Given the description of an element on the screen output the (x, y) to click on. 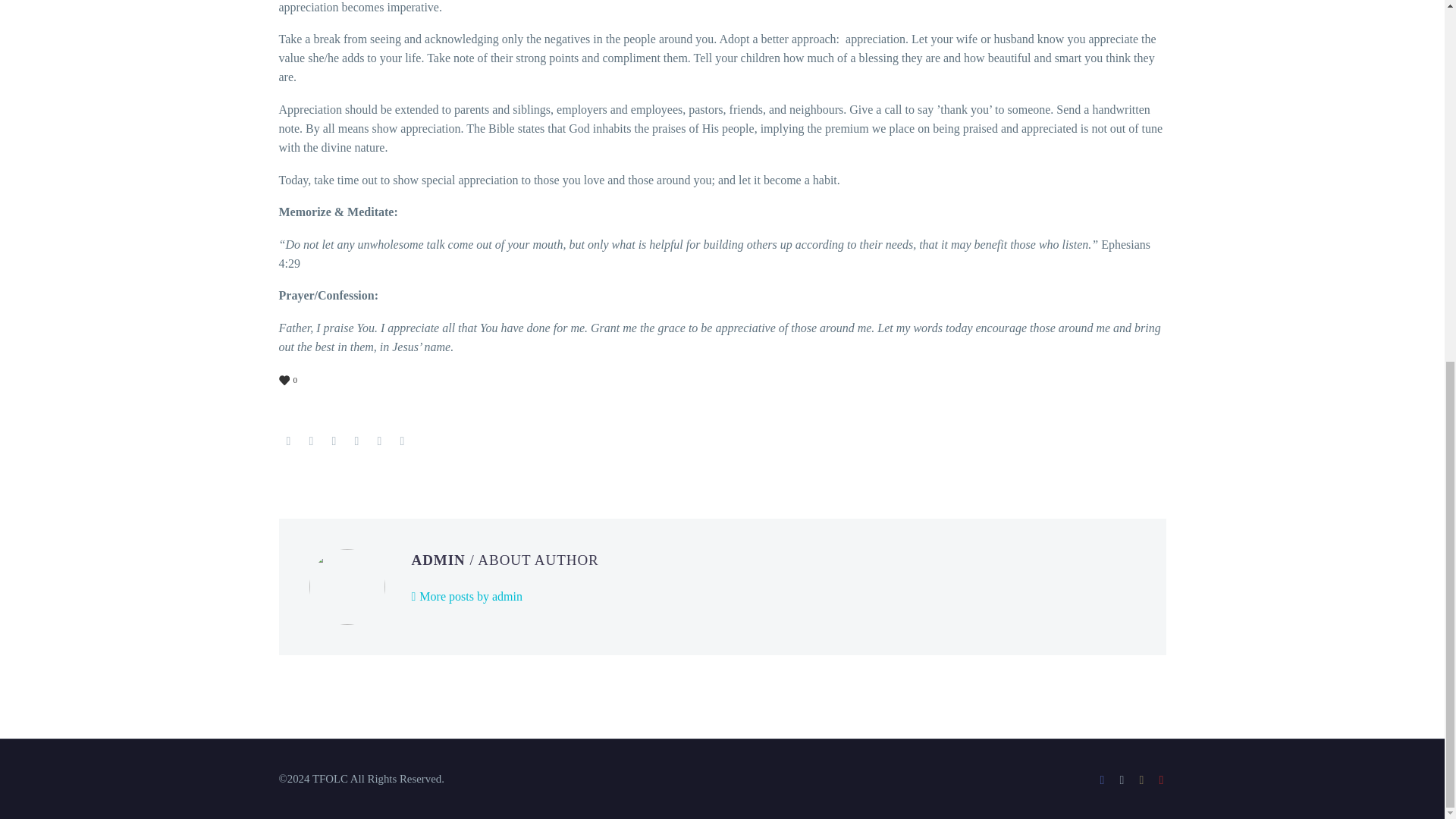
Pinterest (333, 440)
Facebook (288, 440)
Facebook (1102, 779)
Reddit (401, 440)
YouTube (1161, 779)
Tumblr (356, 440)
Twitter (310, 440)
Instagram (1141, 779)
Twitter (1122, 779)
LinkedIn (378, 440)
